Given the description of an element on the screen output the (x, y) to click on. 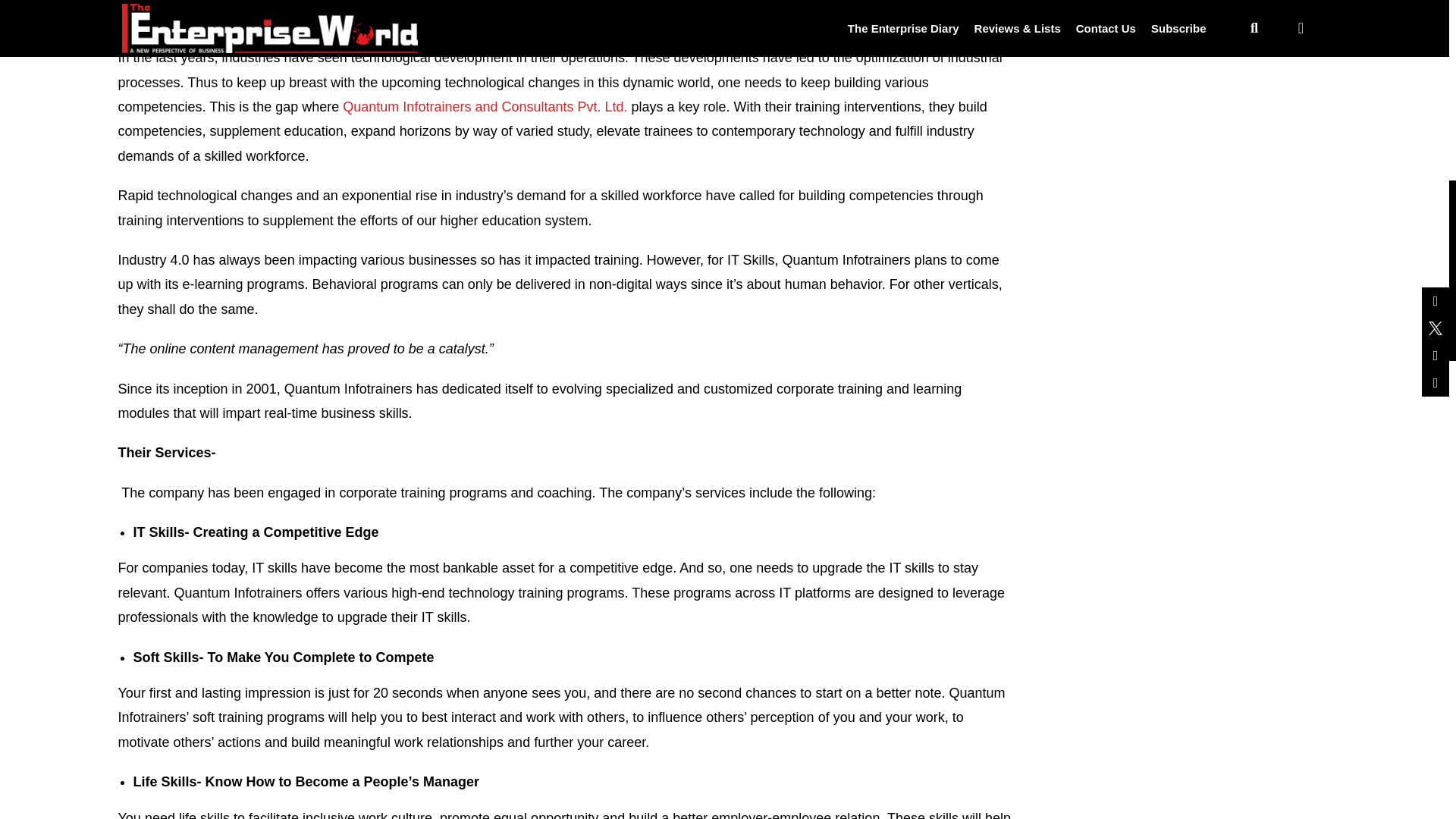
Quantum Infotrainers and Consultants Pvt. Ltd. (484, 106)
